Given the description of an element on the screen output the (x, y) to click on. 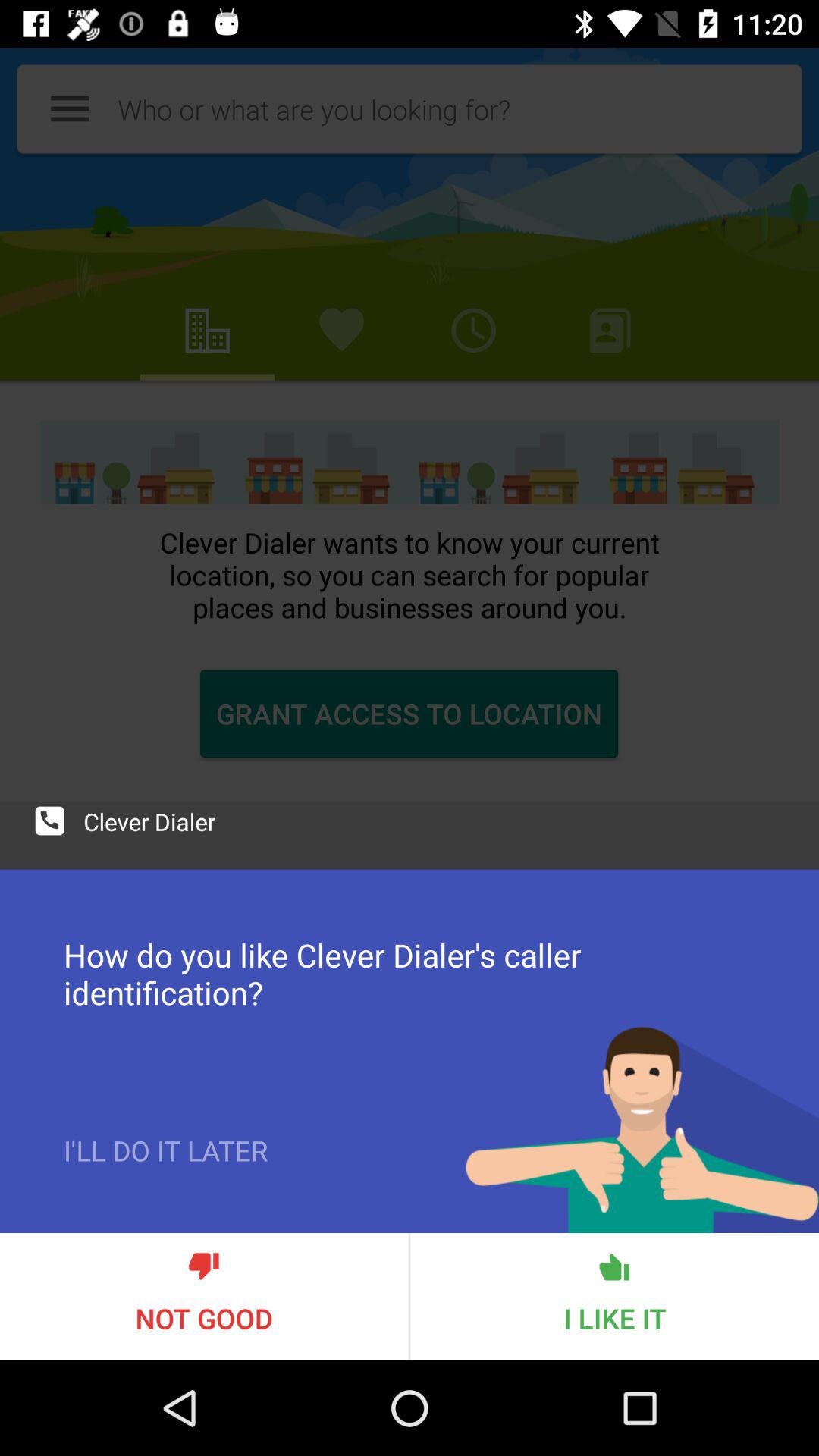
select icon below the i ll do icon (204, 1296)
